Given the description of an element on the screen output the (x, y) to click on. 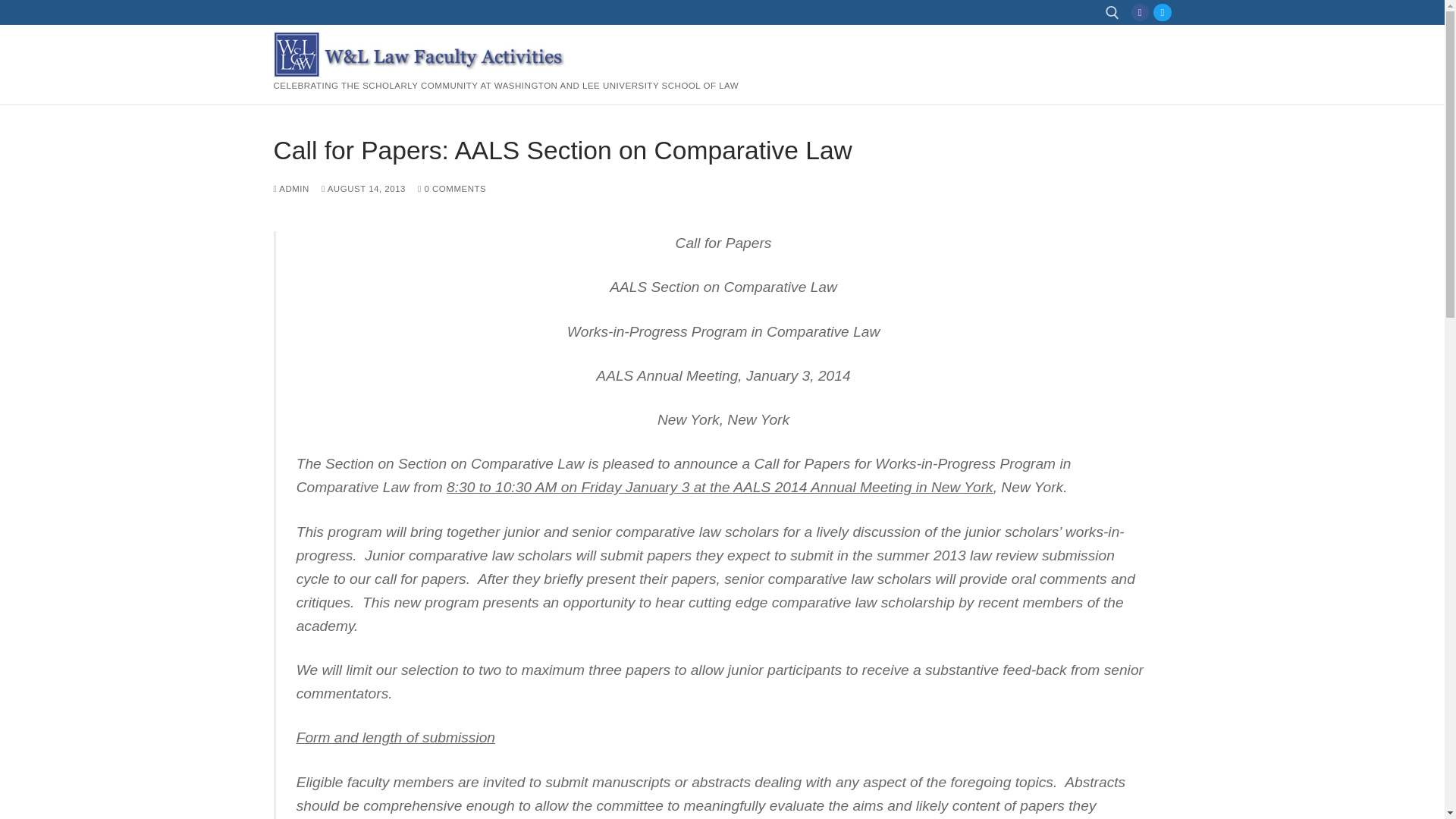
Facebook (1139, 12)
Twitter (1162, 12)
ADMIN (290, 188)
AUGUST 14, 2013 (363, 188)
0 COMMENTS (451, 188)
